Given the description of an element on the screen output the (x, y) to click on. 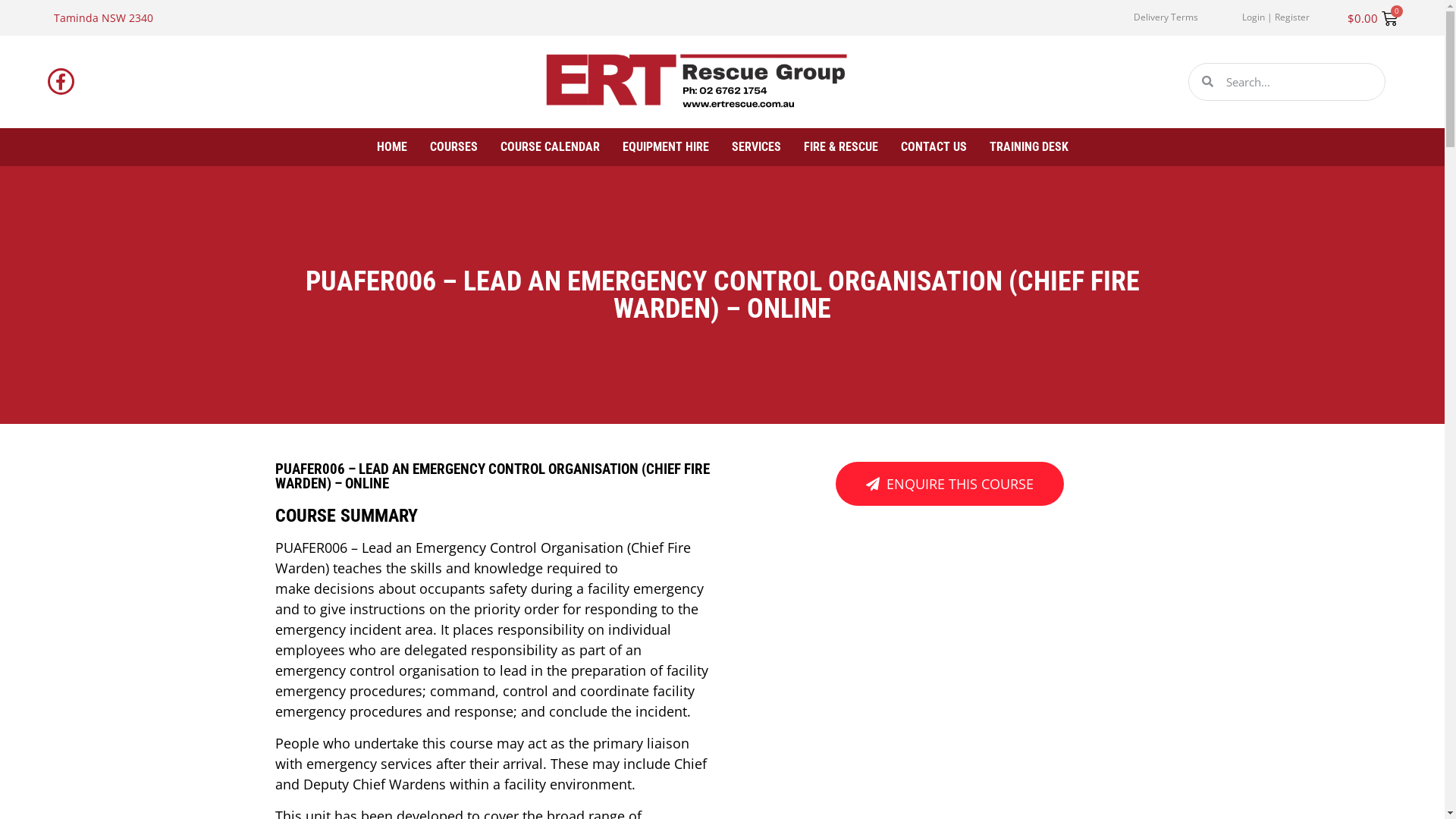
HOME Element type: text (391, 146)
FIRE & RESCUE Element type: text (840, 146)
SERVICES Element type: text (755, 146)
TRAINING DESK Element type: text (1027, 146)
COURSE CALENDAR Element type: text (549, 146)
EQUIPMENT HIRE Element type: text (664, 146)
Delivery Terms Element type: text (1165, 17)
Taminda NSW 2340 Element type: text (102, 17)
CONTACT US Element type: text (933, 146)
ENQUIRE THIS COURSE Element type: text (949, 483)
Login | Register Element type: text (1275, 17)
$0.00
0 Element type: text (1372, 18)
COURSES Element type: text (452, 146)
